Given the description of an element on the screen output the (x, y) to click on. 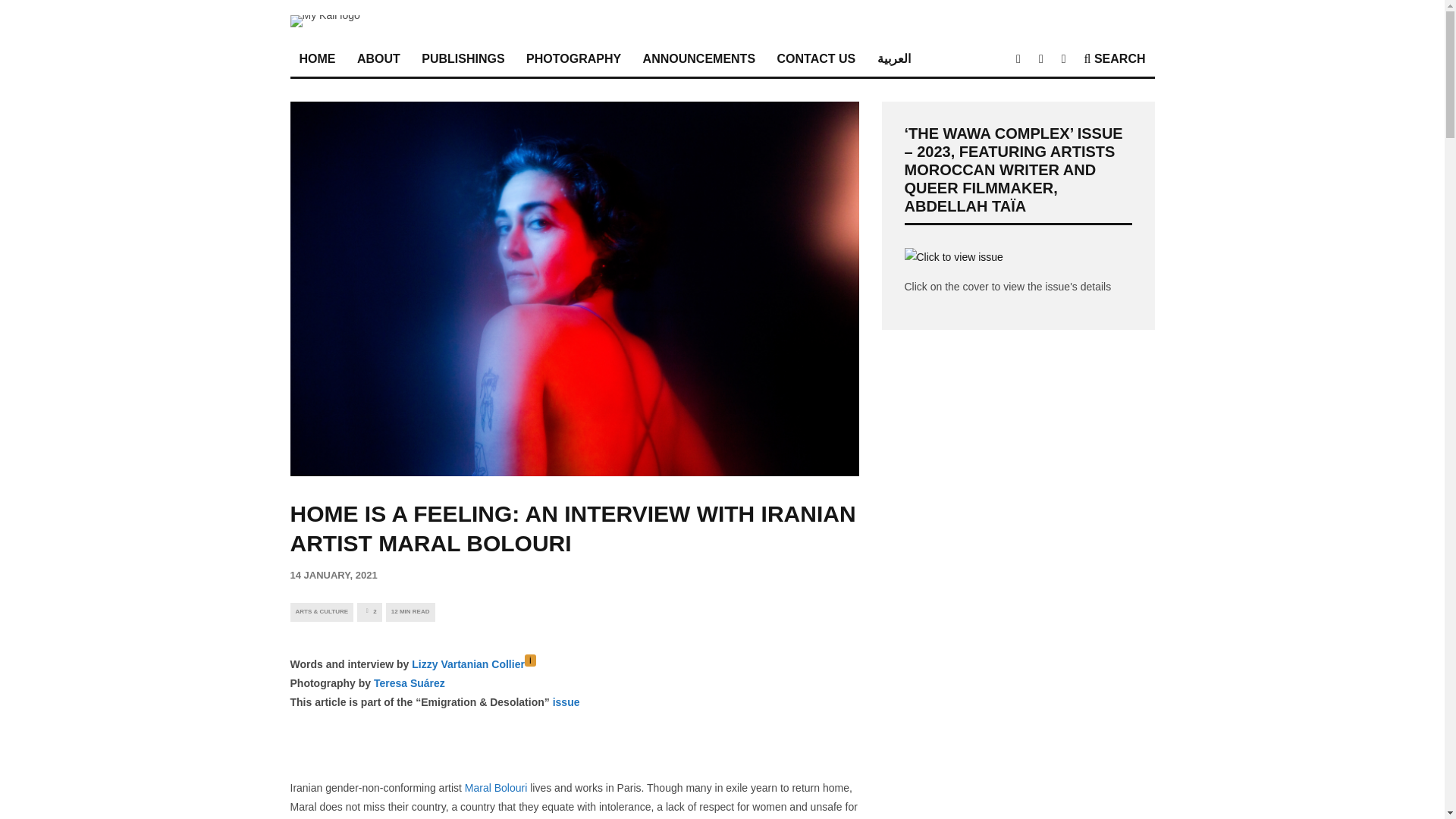
HOME (316, 59)
ABOUT (378, 59)
PUBLISHINGS (462, 59)
SEARCH (1114, 59)
ANNOUNCEMENTS (698, 59)
PHOTOGRAPHY (573, 59)
CONTACT US (816, 59)
Search (1114, 59)
